Given the description of an element on the screen output the (x, y) to click on. 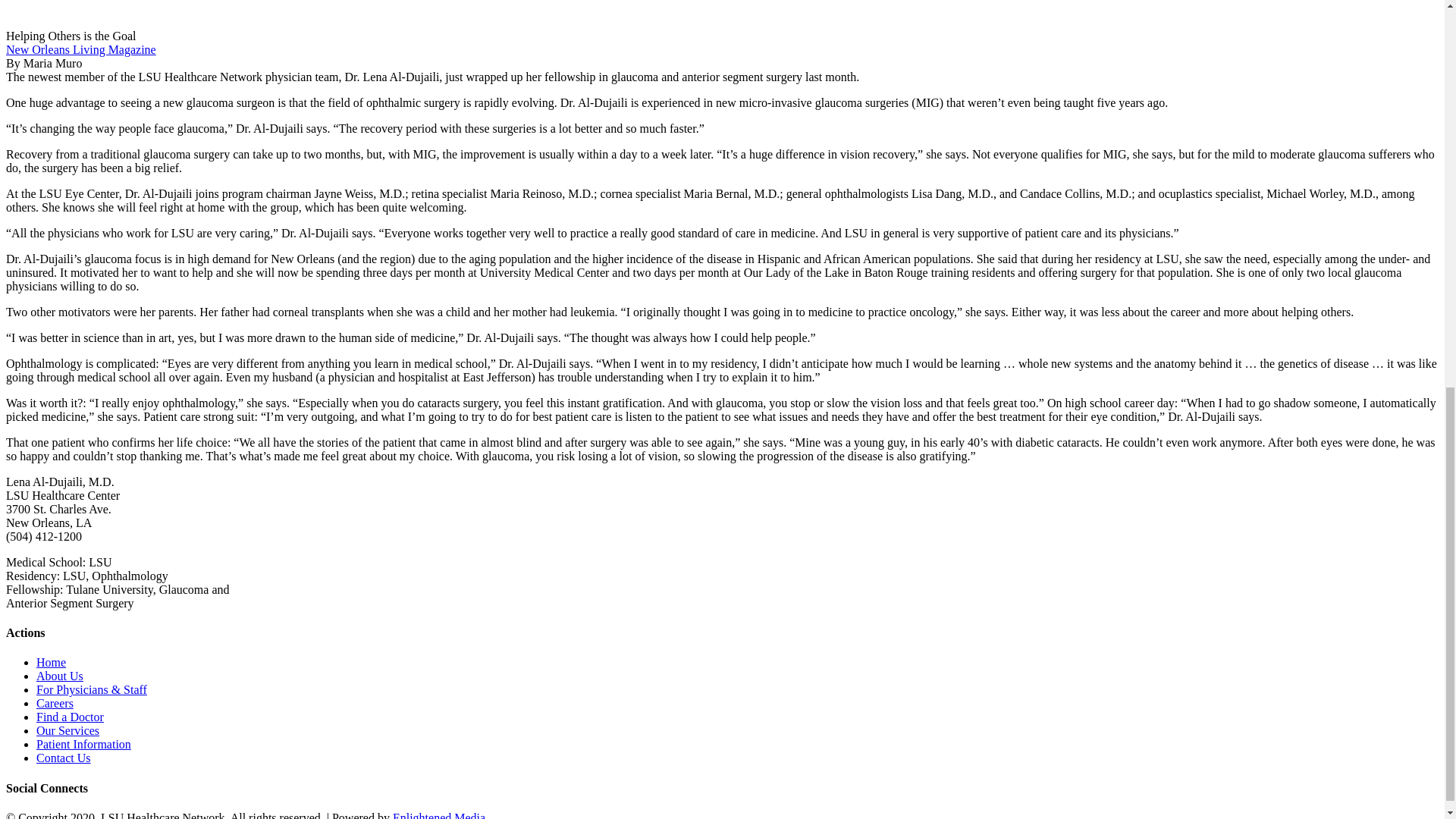
Home (50, 662)
New Orleans Living Magazine (80, 49)
About Us (59, 675)
